Given the description of an element on the screen output the (x, y) to click on. 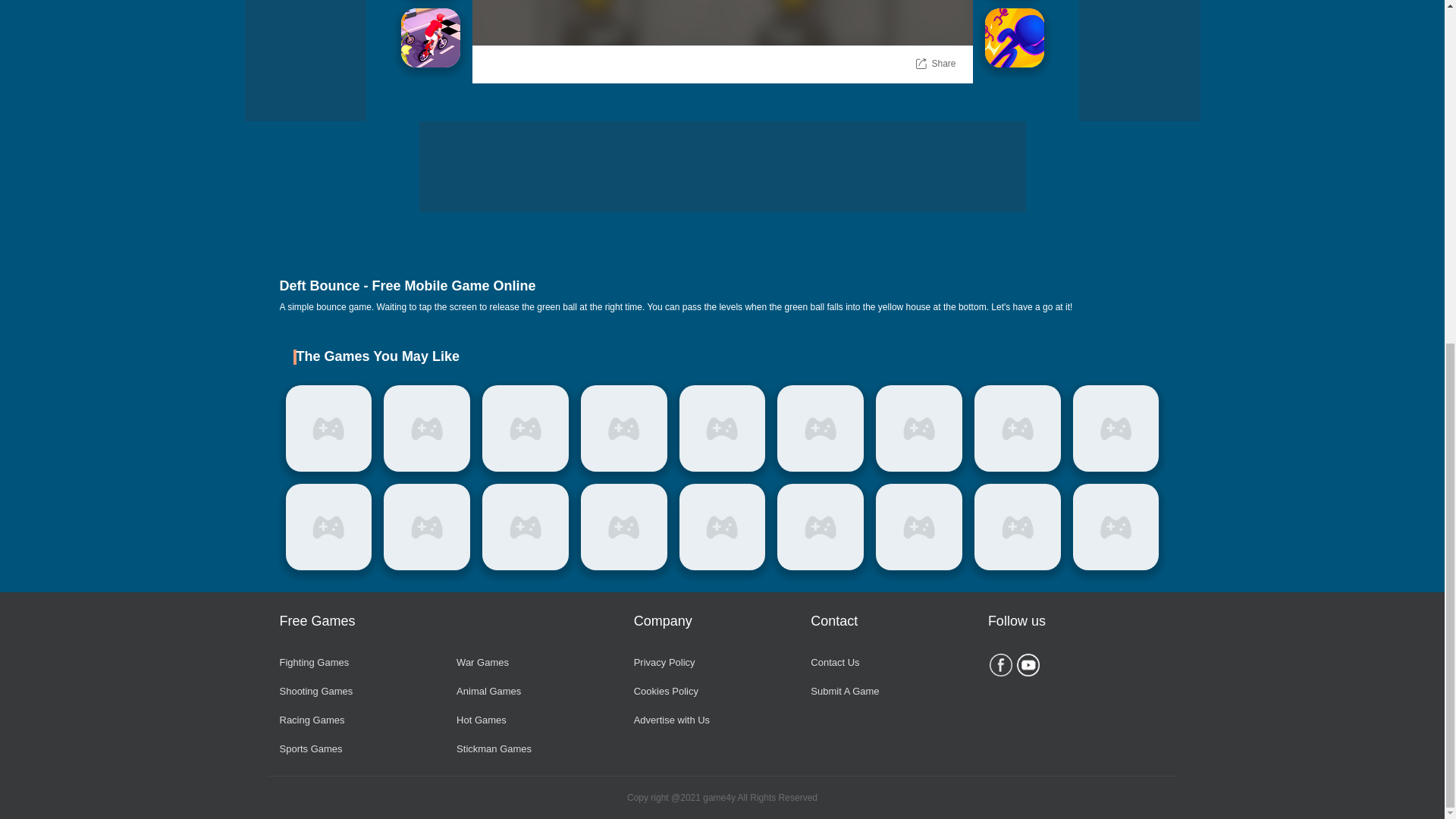
Advertisement (722, 166)
panda man (328, 427)
chop .io (427, 427)
Bike Rush (430, 37)
dana relics for sale (525, 427)
Advertisement (1138, 60)
Advertisement (304, 60)
3D Bubble Rush (1013, 37)
Share (943, 63)
